Given the description of an element on the screen output the (x, y) to click on. 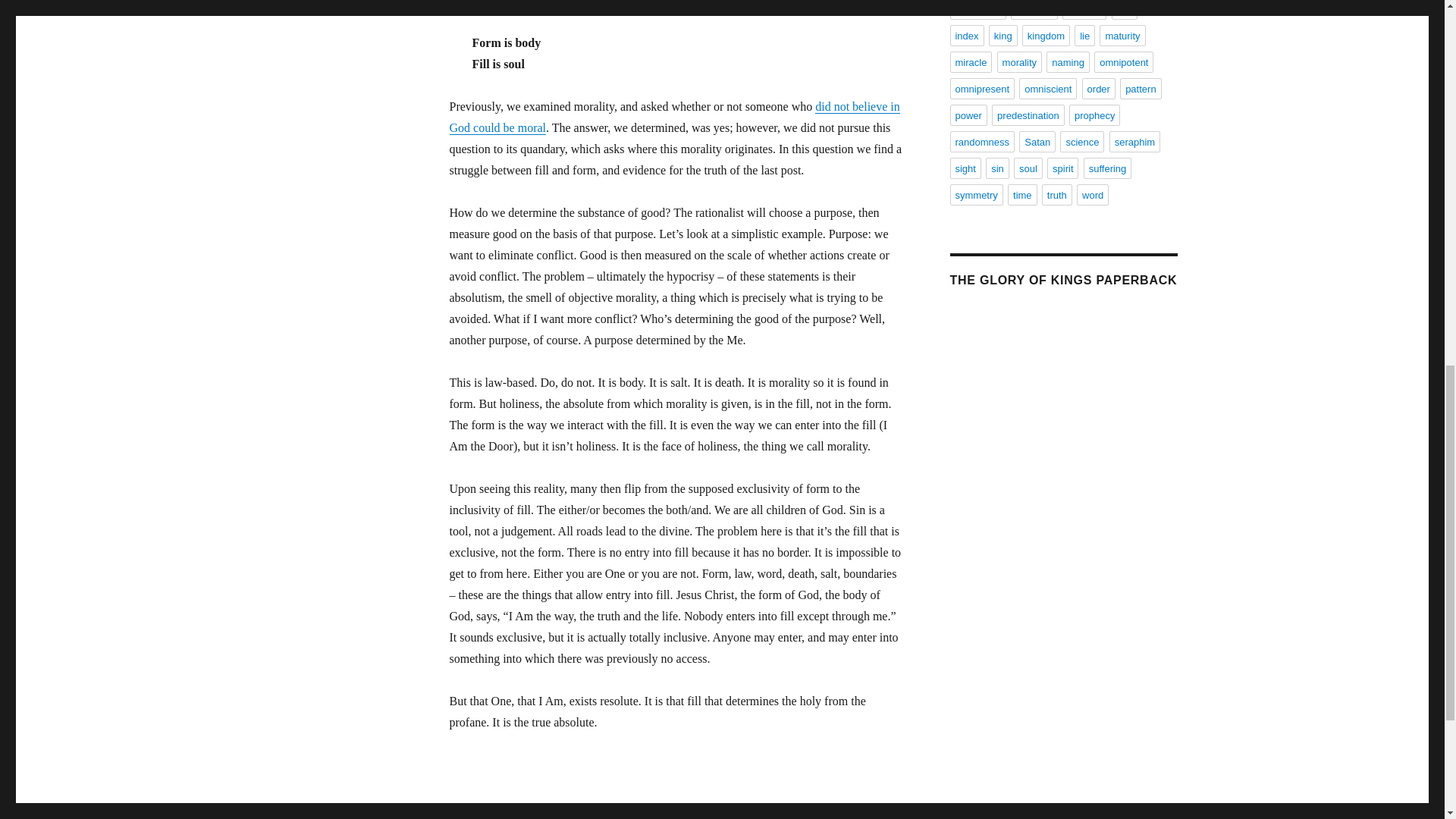
did not believe in God could be moral (673, 116)
